Given the description of an element on the screen output the (x, y) to click on. 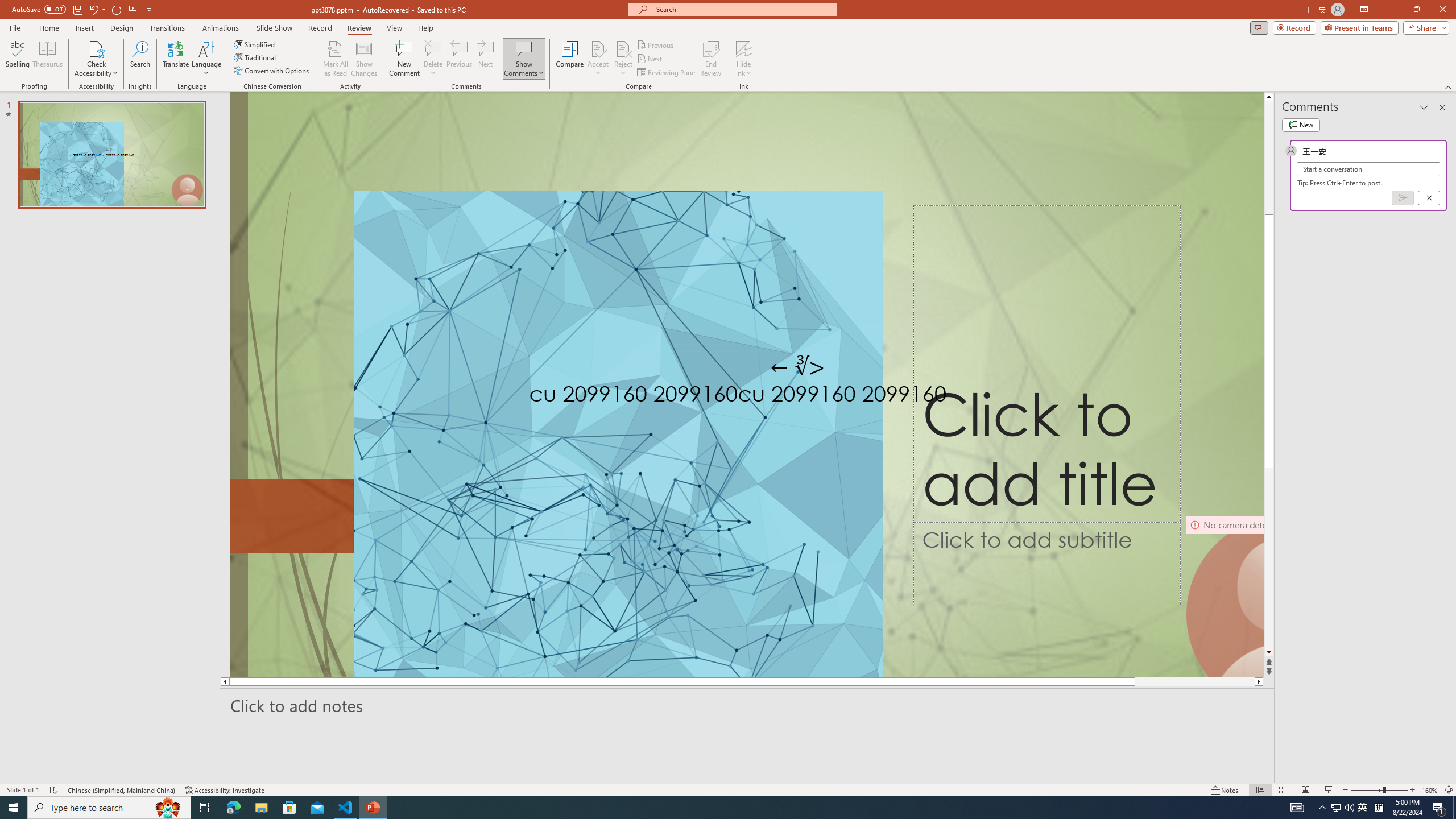
New Comment (403, 58)
End Review (710, 58)
Thesaurus... (47, 58)
Cancel (1428, 197)
Camera 9, No camera detected. (1224, 595)
